Given the description of an element on the screen output the (x, y) to click on. 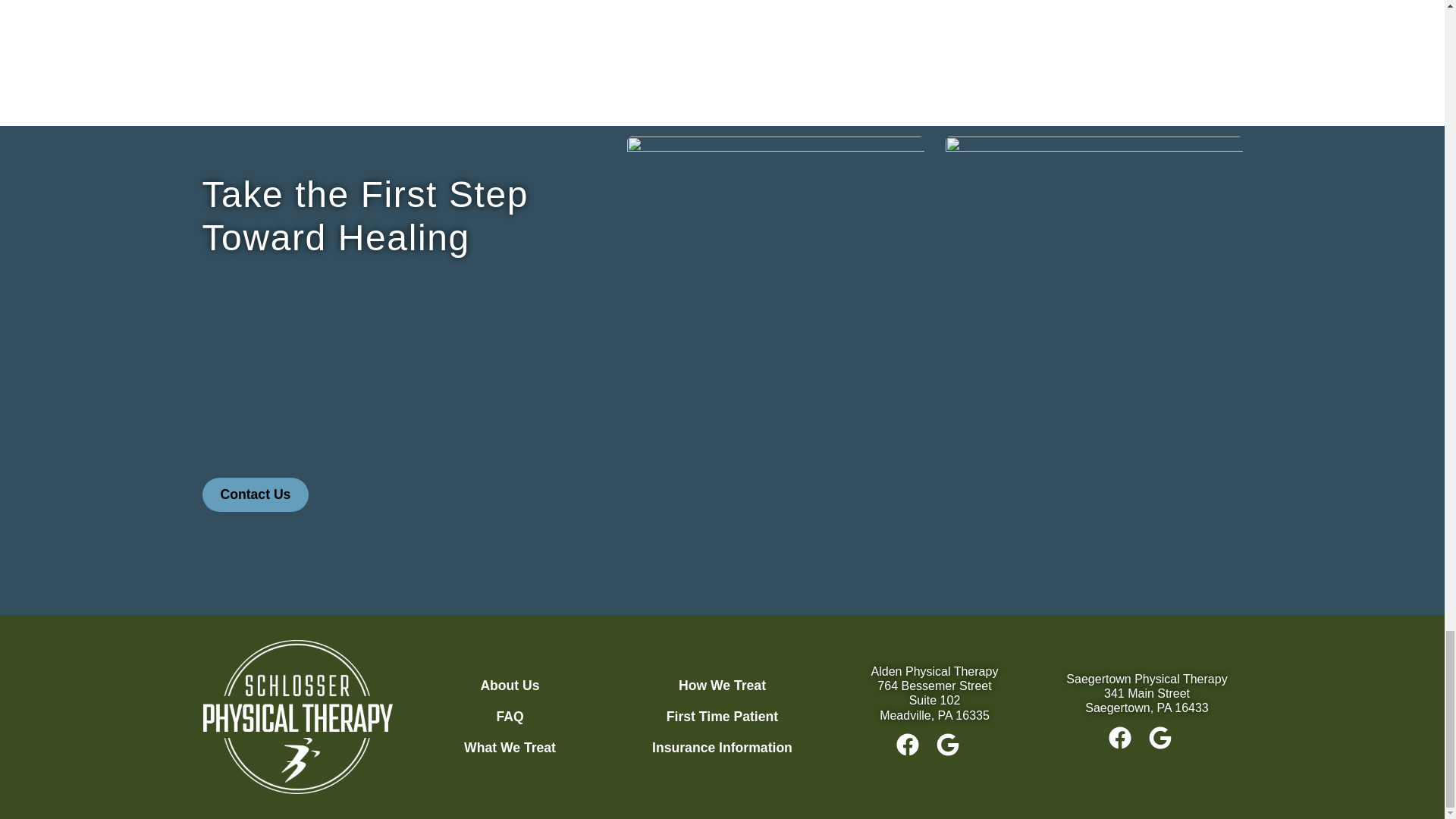
About Us (510, 685)
Contact Us (255, 494)
FAQ (510, 716)
